Given the description of an element on the screen output the (x, y) to click on. 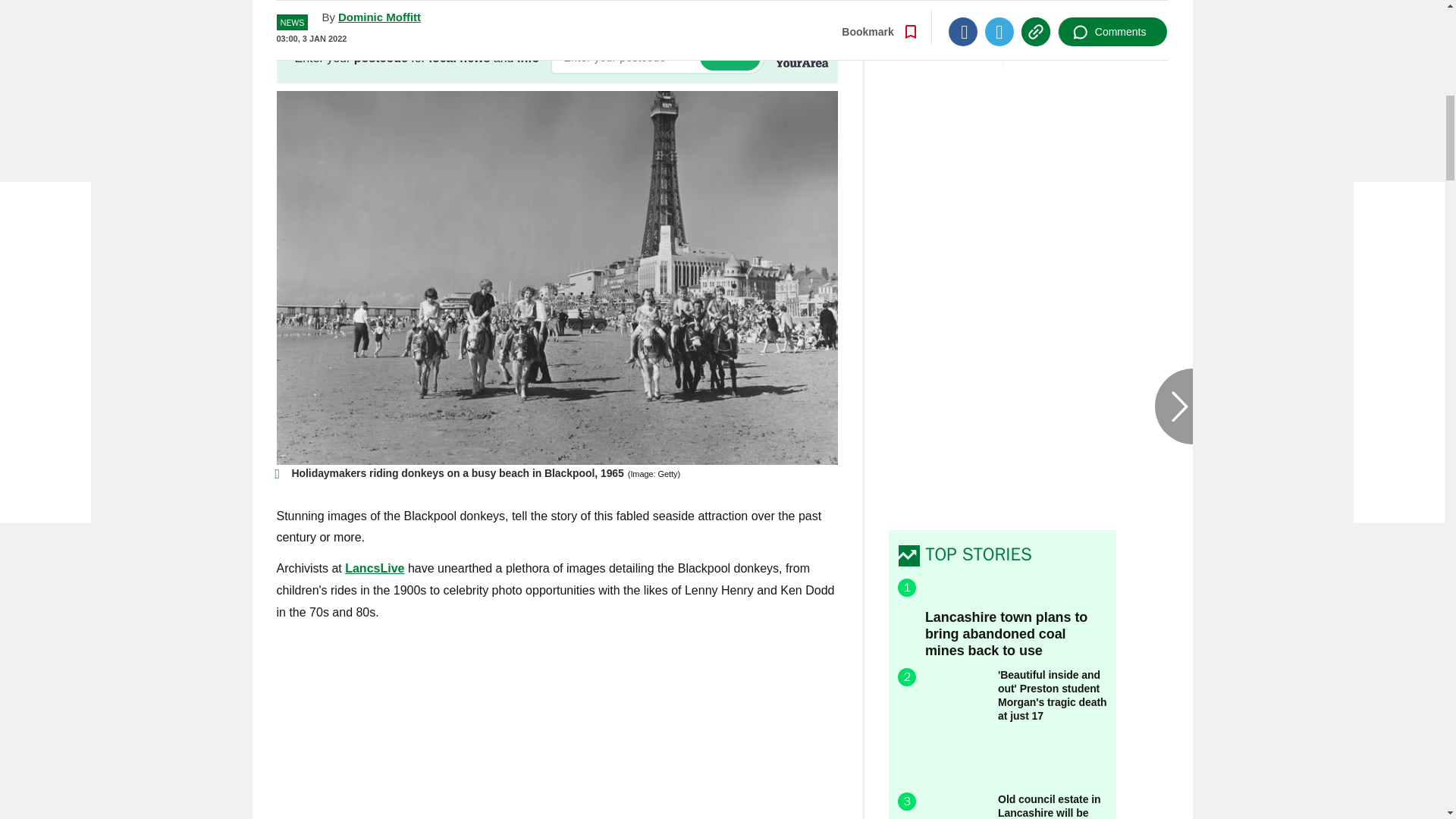
Go (730, 57)
